Given the description of an element on the screen output the (x, y) to click on. 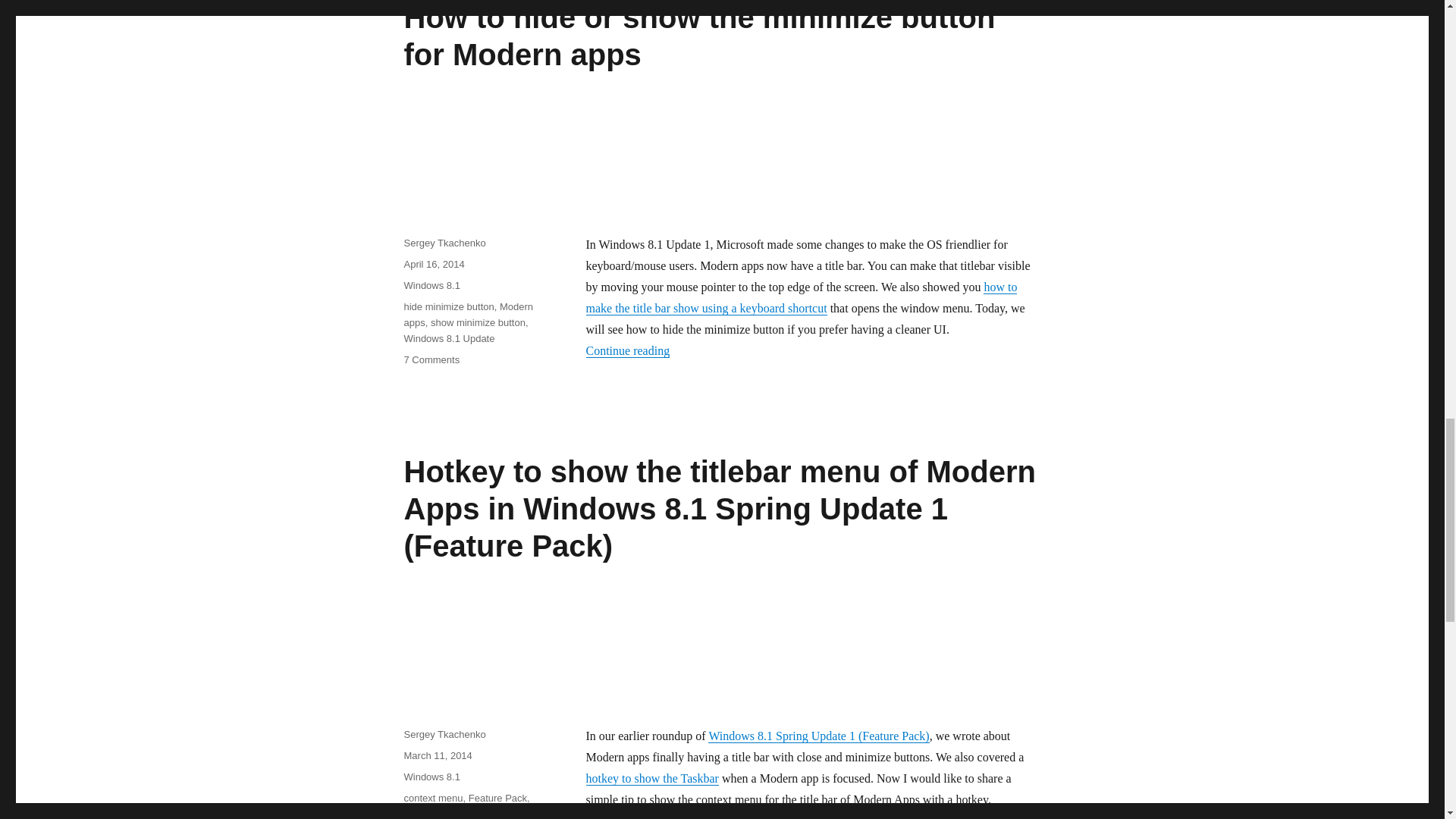
April 16, 2014 (433, 264)
Windows 8.1 (431, 285)
hide minimize button (448, 306)
how to make the title bar show using a keyboard shortcut (800, 297)
How to hide or show the minimize button for Modern apps (698, 35)
Sergey Tkachenko (443, 242)
